Given the description of an element on the screen output the (x, y) to click on. 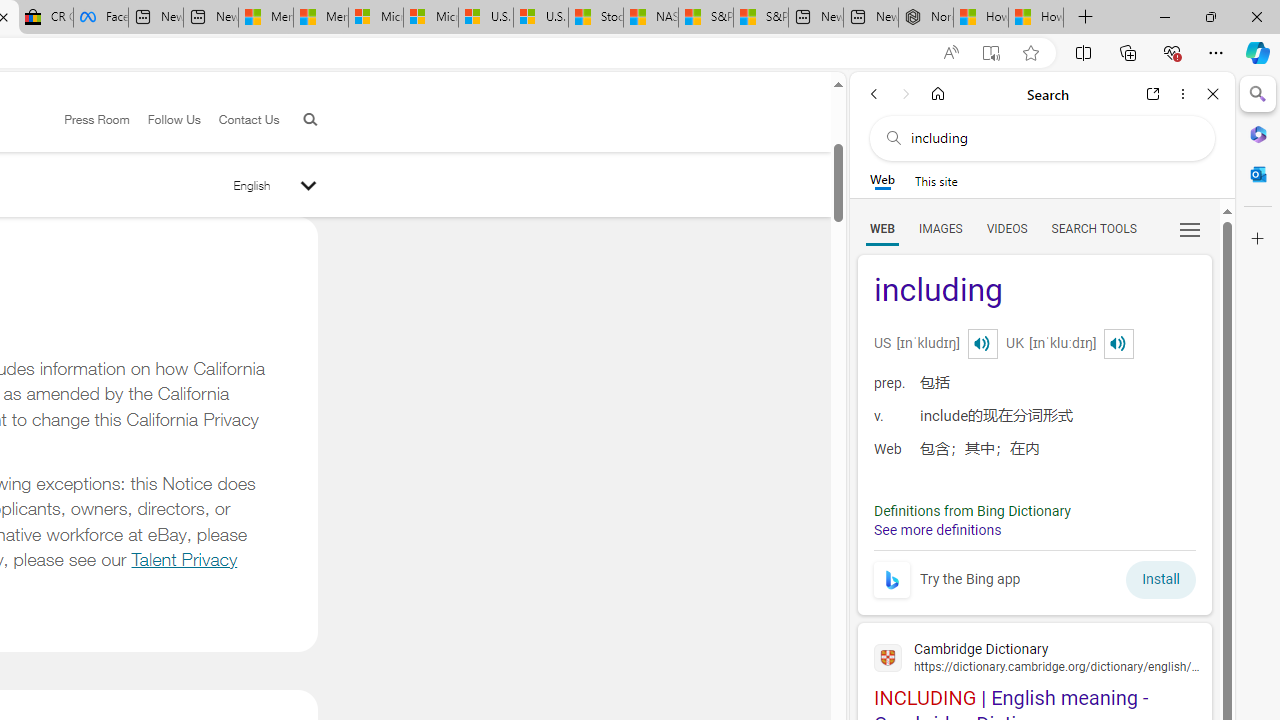
Class: dict_pnIcon rms_img (1117, 343)
See more definitions (938, 530)
Search Filter, VIDEOS (1006, 228)
Search Filter, WEB (882, 228)
This site scope (936, 180)
To get missing image descriptions, open the context menu. (892, 580)
Open link in new tab (1153, 93)
SEARCH TOOLS (1093, 228)
